Given the description of an element on the screen output the (x, y) to click on. 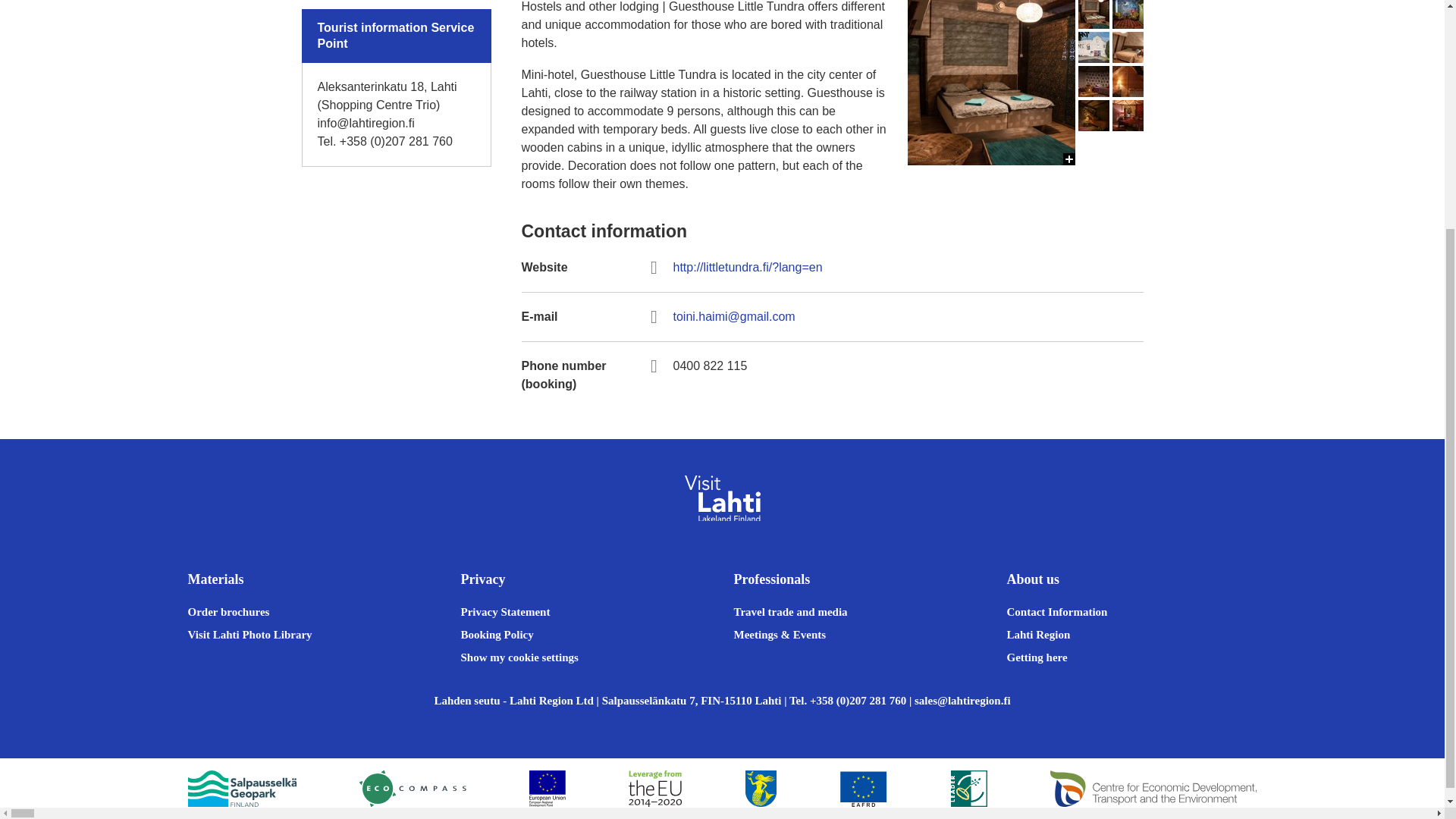
Guesthouse Little Tundra (990, 82)
Guesthouse Little Tundra (990, 248)
Guesthouse Little Tundra (990, 583)
Guesthouse Little Tundra (1093, 14)
Guesthouse Little Tundra (1093, 46)
Guesthouse Little Tundra (990, 416)
Guesthouse Little Tundra (1127, 14)
